Given the description of an element on the screen output the (x, y) to click on. 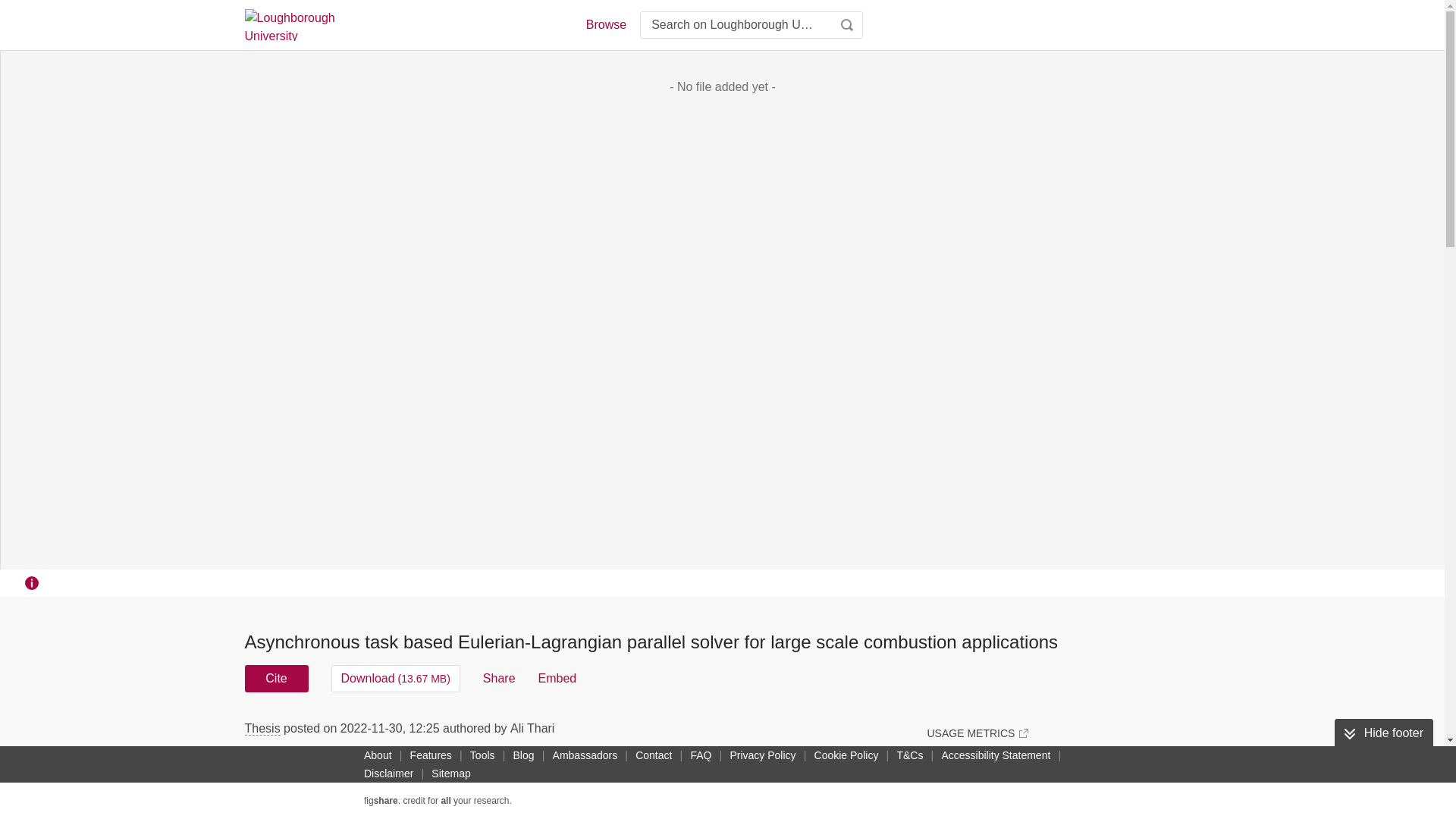
Blog (523, 755)
Tools (482, 755)
Hide footer (1383, 733)
USAGE METRICS (976, 732)
FAQ (700, 755)
Disclaimer (388, 773)
Cite (275, 678)
Ambassadors (585, 755)
Cookie Policy (846, 755)
Contact (653, 755)
